Given the description of an element on the screen output the (x, y) to click on. 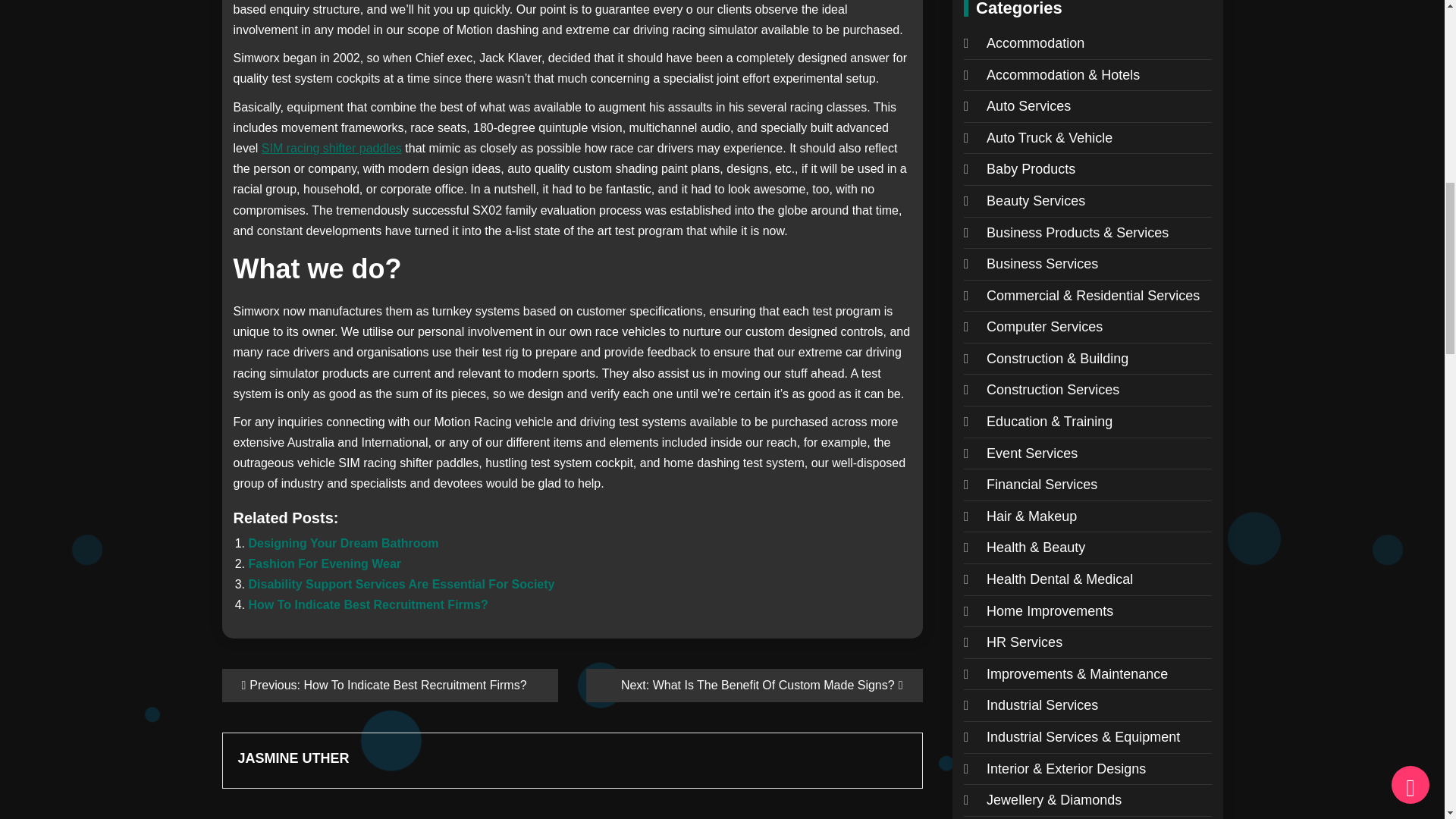
JASMINE UTHER (522, 758)
Next: What Is The Benefit Of Custom Made Signs? (754, 685)
Designing Your Dream Bathroom (343, 543)
Posts by Jasmine Uther (522, 758)
Fashion For Evening Wear (324, 563)
SIM racing shifter paddles (331, 147)
Fashion For Evening Wear (324, 563)
SIM racing shifter paddles (331, 147)
How To Indicate Best Recruitment Firms? (367, 604)
Disability Support Services Are Essential For Society (401, 584)
How To Indicate Best Recruitment Firms? (367, 604)
Previous: How To Indicate Best Recruitment Firms? (389, 685)
Disability Support Services Are Essential For Society (401, 584)
Designing Your Dream Bathroom (343, 543)
